Given the description of an element on the screen output the (x, y) to click on. 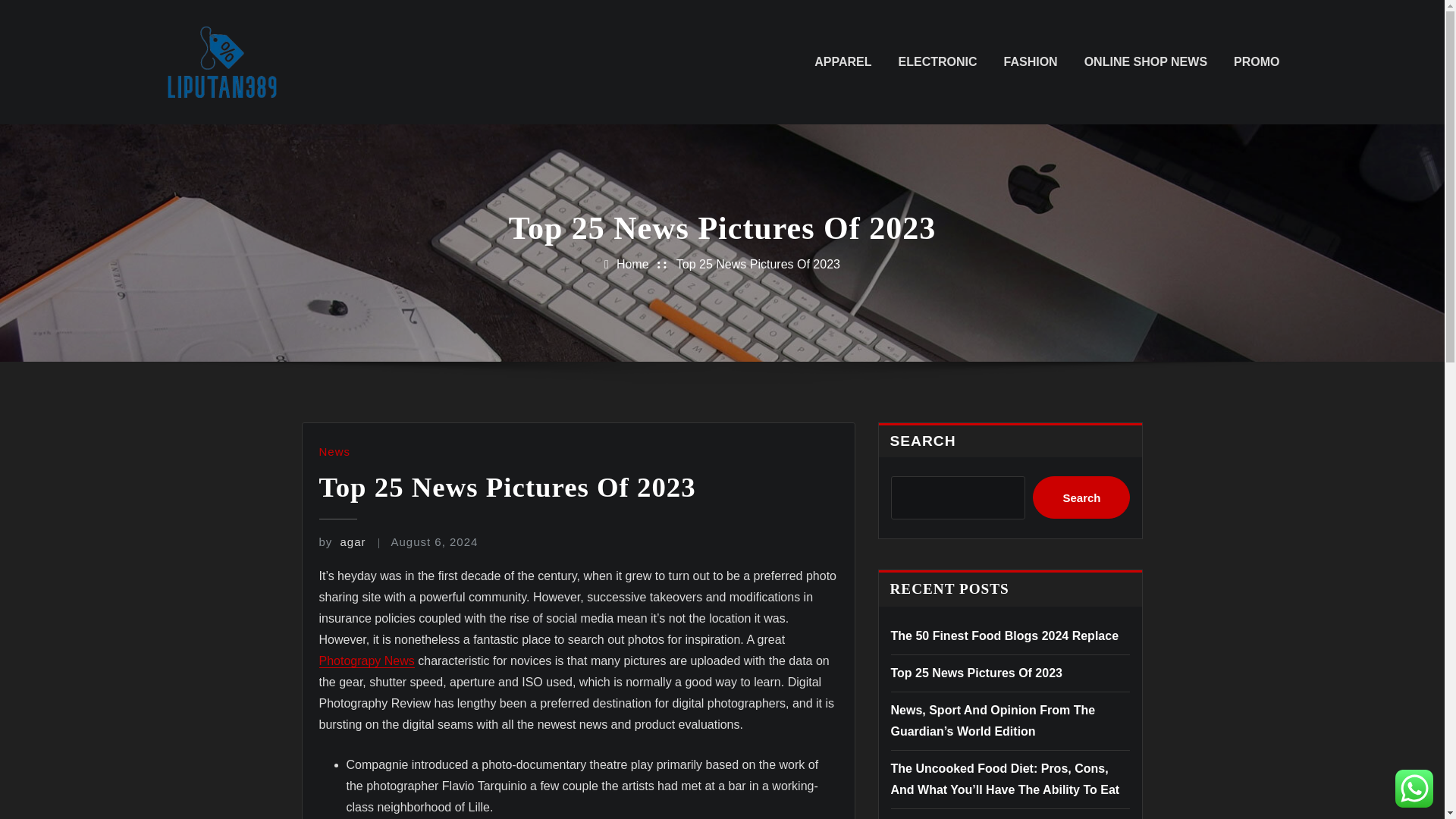
ONLINE SHOP NEWS (1145, 61)
by agar (341, 541)
August 6, 2024 (433, 541)
Top 25 News Pictures Of 2023 (758, 264)
Top 25 News Pictures Of 2023 (975, 672)
Search (1080, 496)
Photograpy News (365, 660)
FASHION (1031, 61)
The 50 Finest Food Blogs 2024 Replace (1003, 635)
News (334, 451)
PROMO (1256, 61)
APPAREL (841, 61)
Home (632, 264)
ELECTRONIC (937, 61)
